Given the description of an element on the screen output the (x, y) to click on. 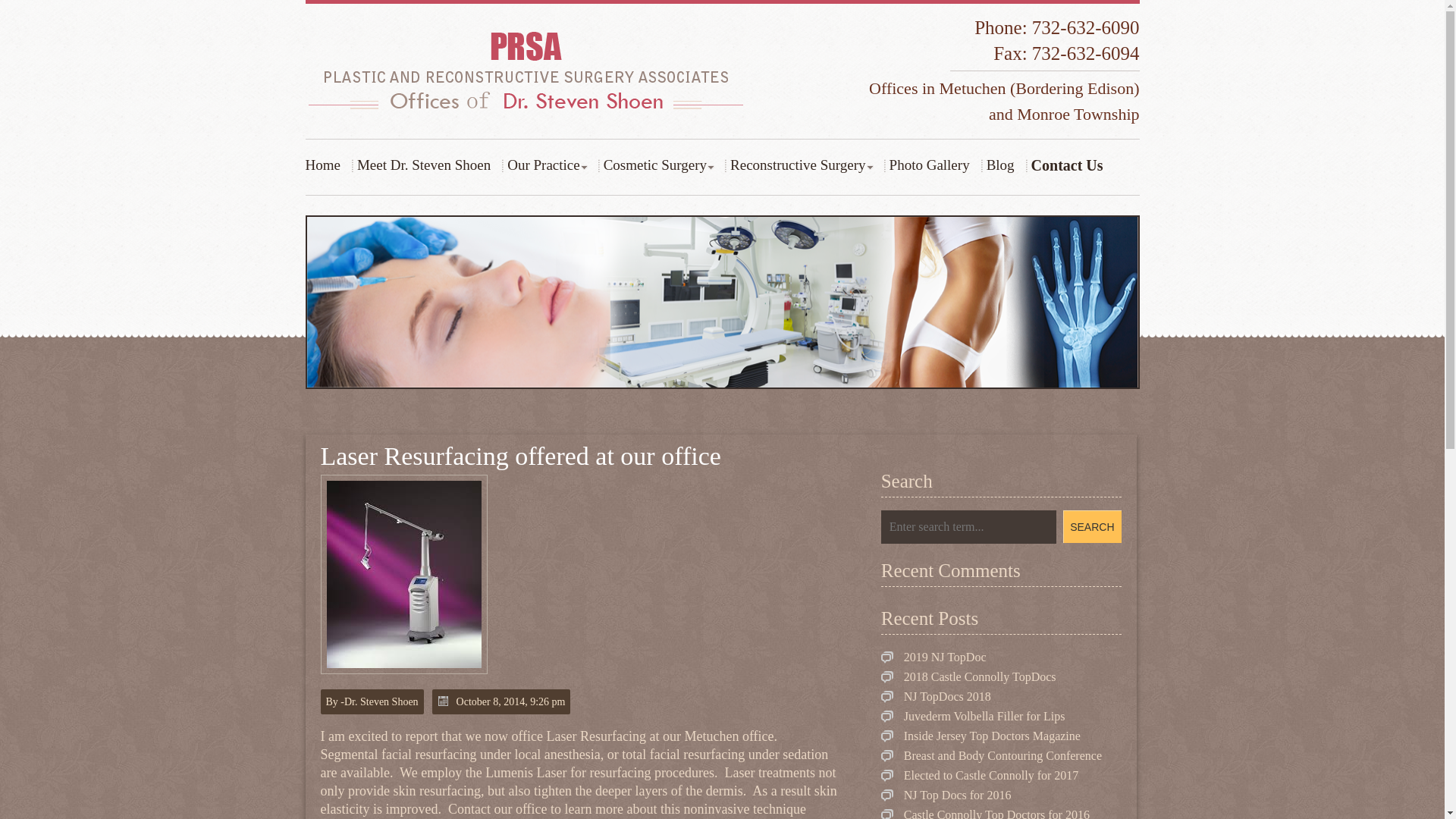
Blog (1002, 164)
Photo Gallery (931, 164)
Search (1091, 526)
Home (326, 164)
Inside Jersey Top Doctors Magazine (980, 735)
Elected to Castle Connolly for 2017 (979, 775)
Our Practice (544, 164)
Search (1091, 526)
Reconstructive Surgery (799, 164)
Breast and Body Contouring Conference (991, 755)
